Given the description of an element on the screen output the (x, y) to click on. 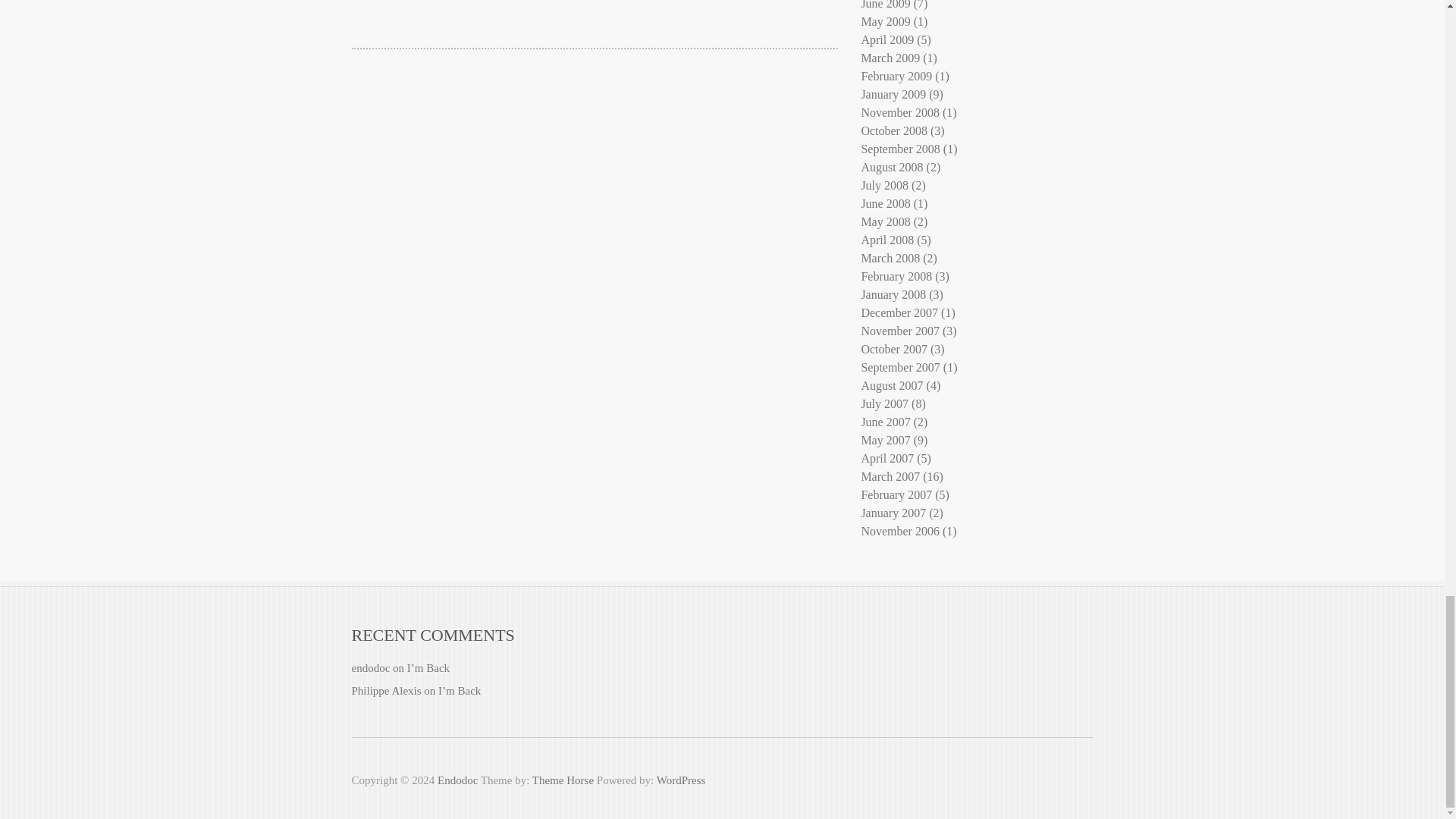
WordPress (681, 779)
Theme Horse (563, 779)
Endodoc (457, 779)
